Given the description of an element on the screen output the (x, y) to click on. 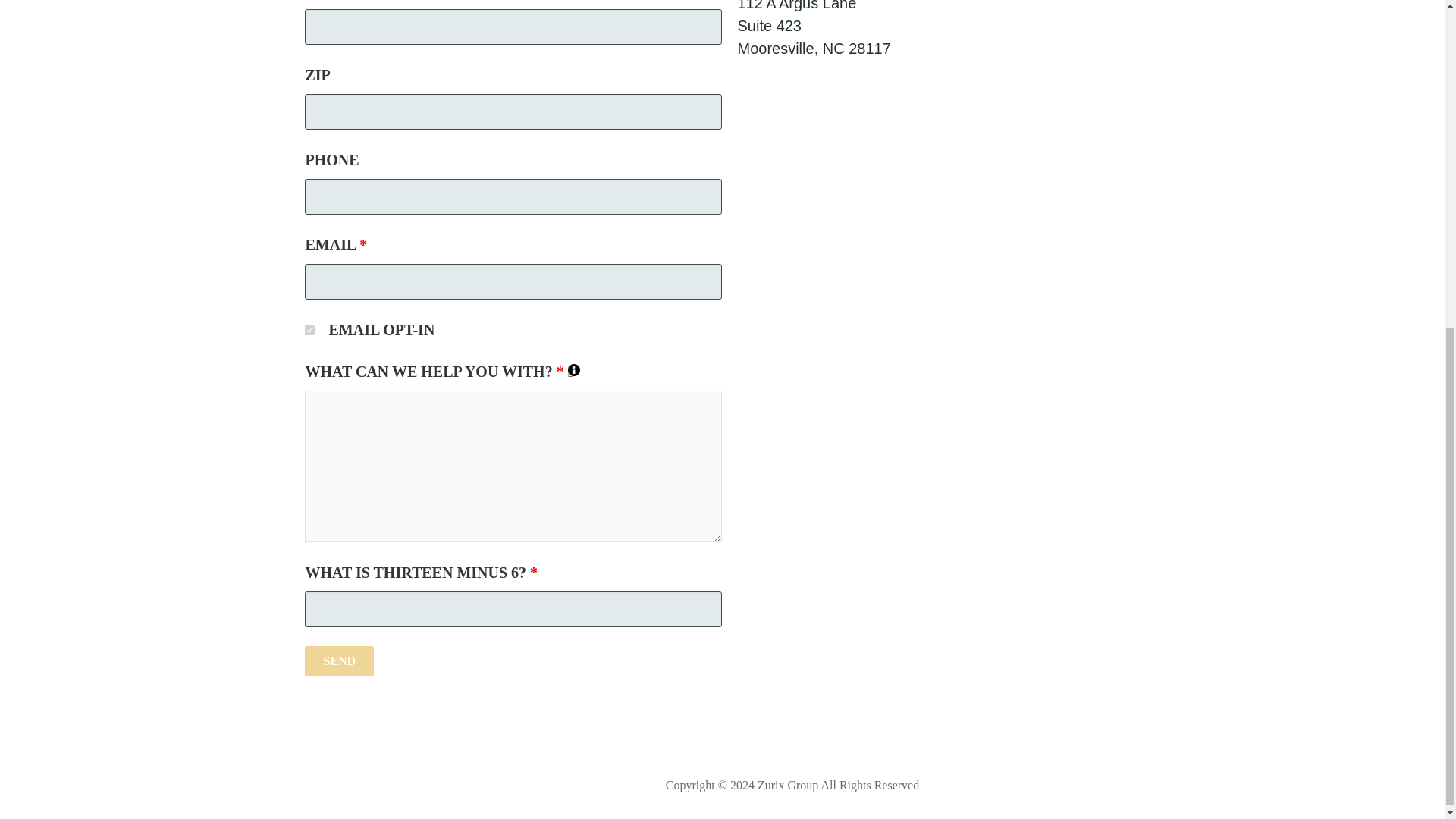
1 (309, 329)
Send (339, 661)
Send (339, 661)
